Given the description of an element on the screen output the (x, y) to click on. 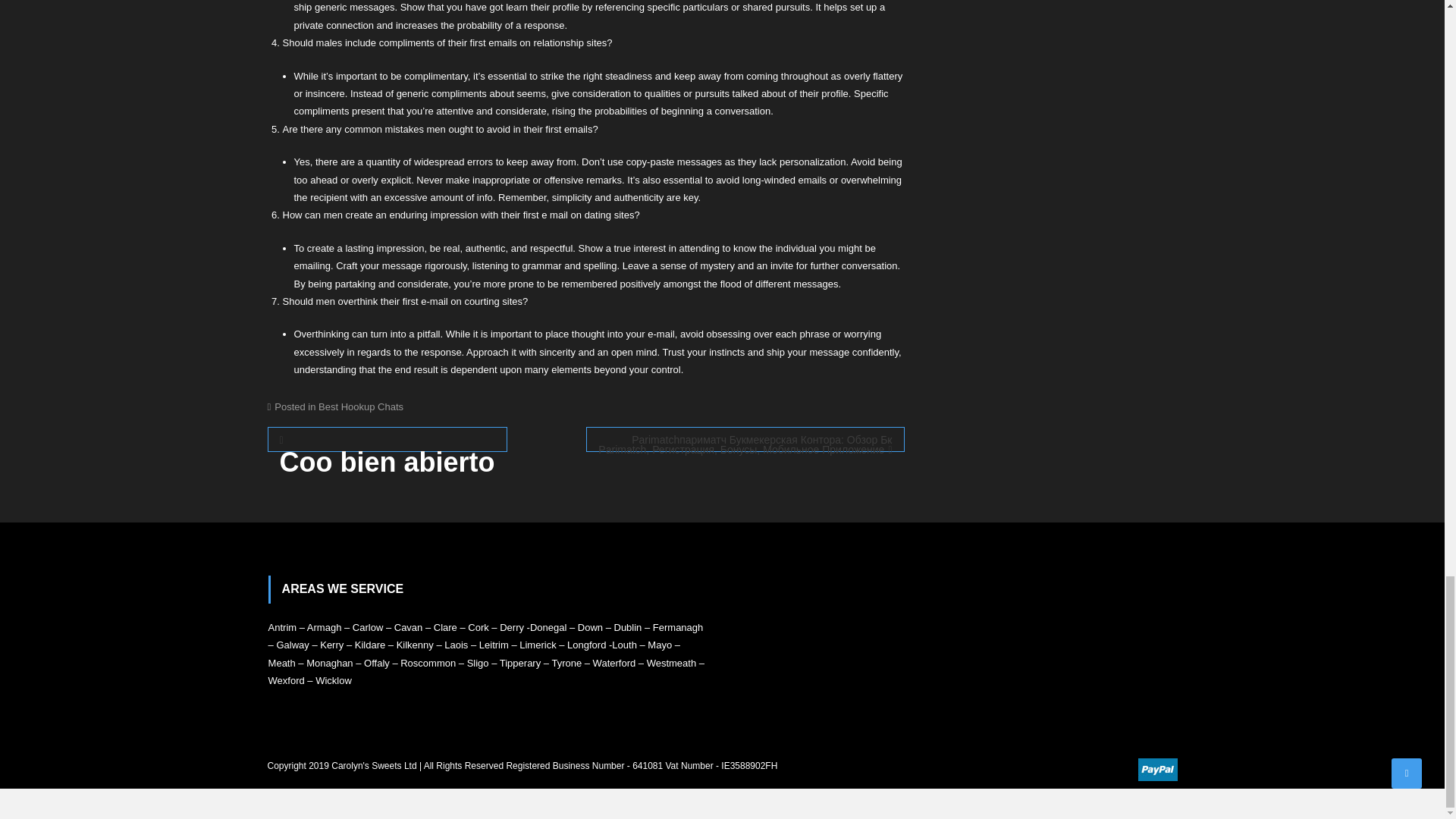
Best Hookup Chats (360, 405)
Coo bien abierto (386, 439)
